Given the description of an element on the screen output the (x, y) to click on. 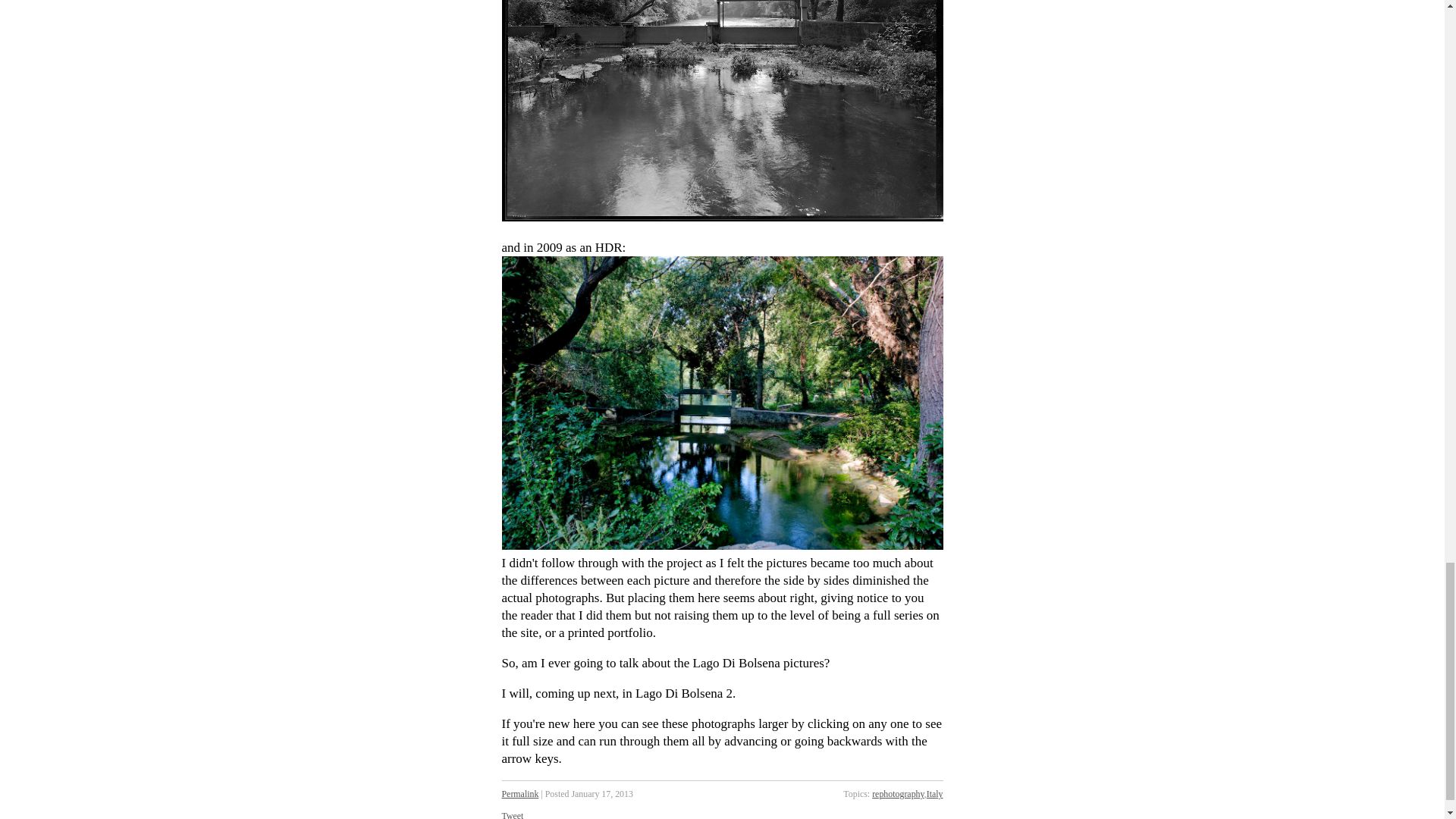
Italy (934, 793)
Click to enlarge (722, 110)
Permalink (520, 793)
Click to enlarge (722, 403)
rephotography (898, 793)
